Given the description of an element on the screen output the (x, y) to click on. 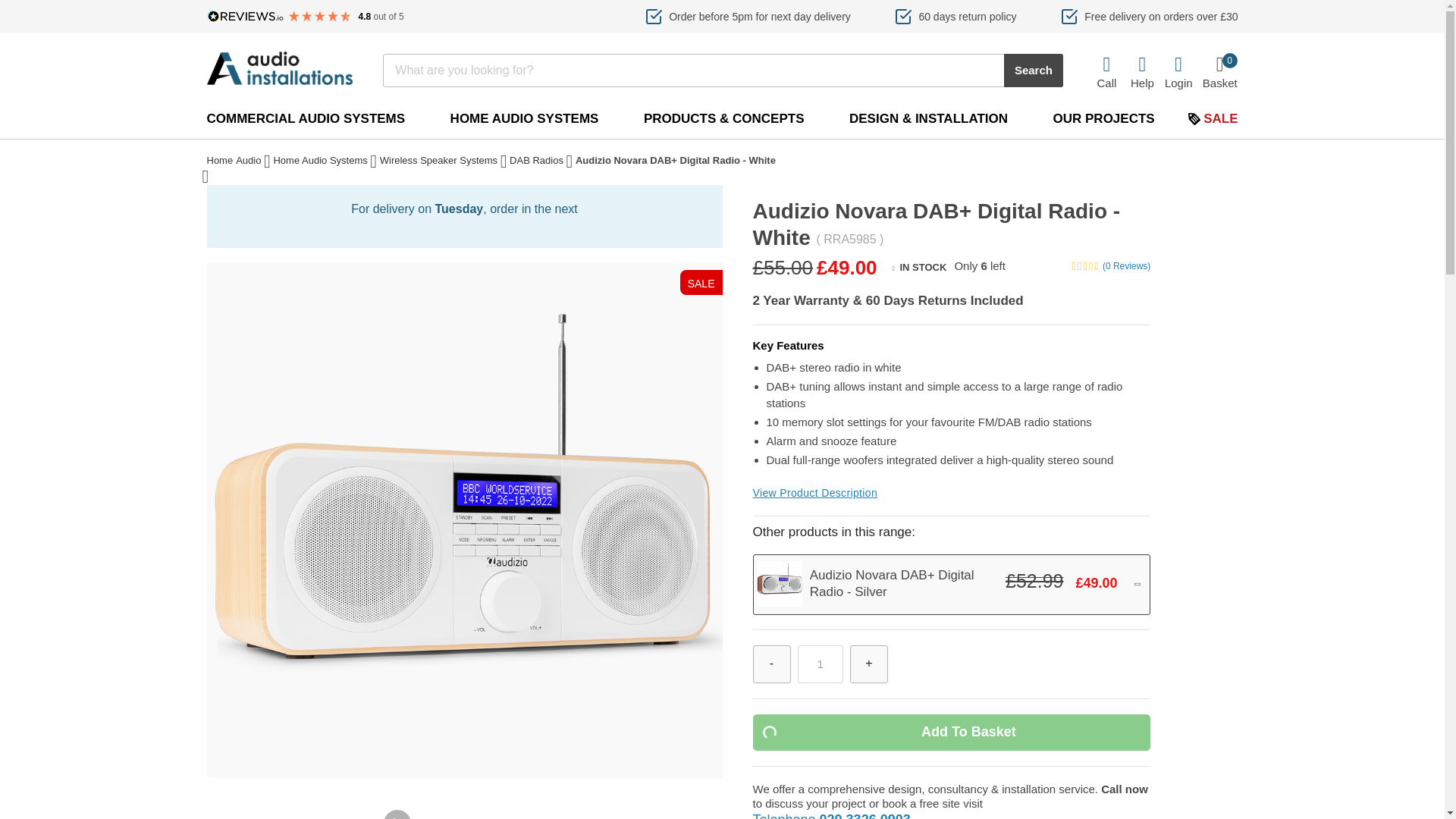
Anchor to full description (814, 492)
1 (820, 664)
- (771, 664)
COMMERCIAL AUDIO SYSTEMS (305, 118)
Only 6 left (979, 267)
Search (1033, 70)
Audio Installations (279, 68)
Availability (919, 267)
Go to Home Page (219, 161)
